Given the description of an element on the screen output the (x, y) to click on. 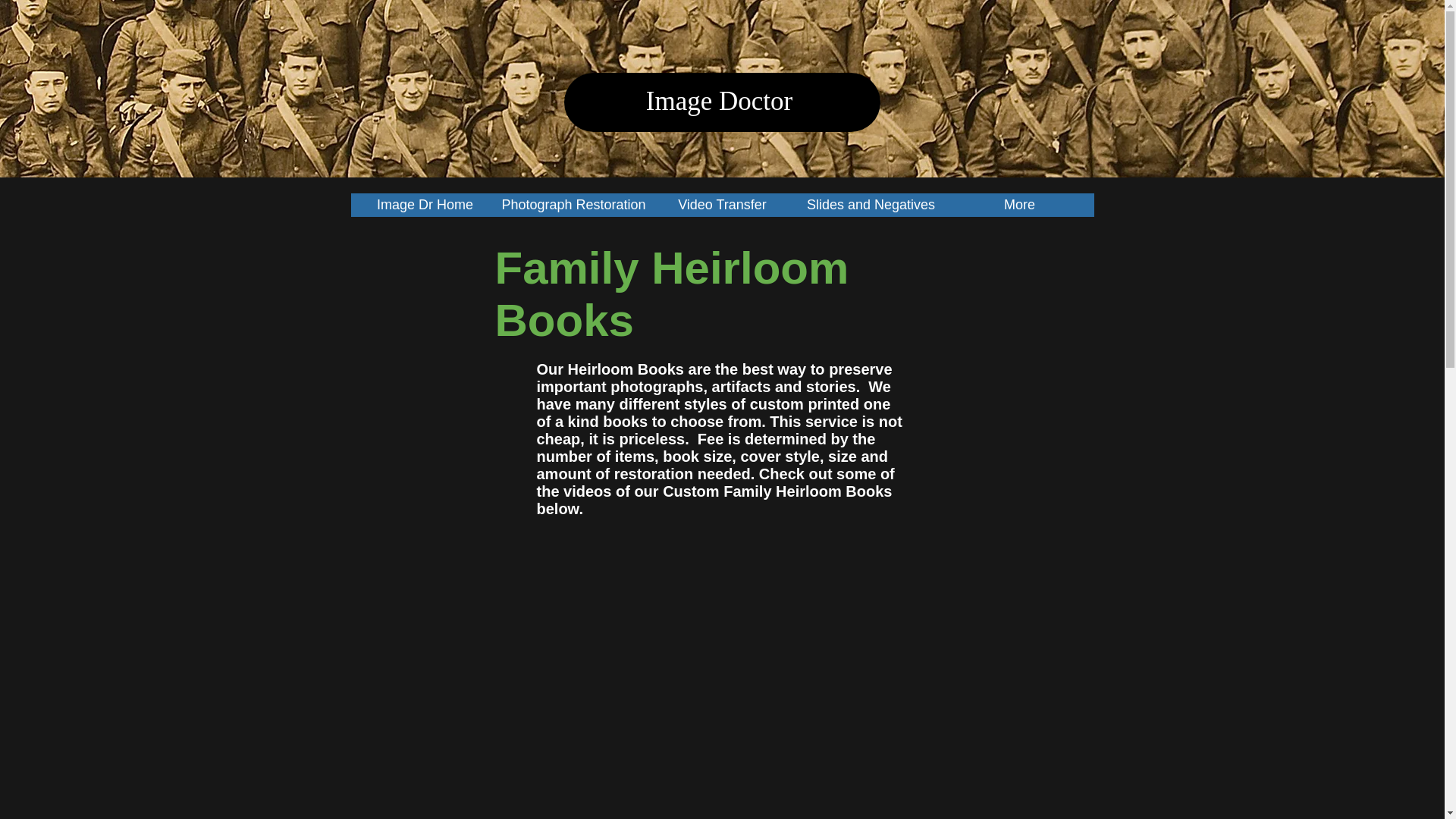
Video Transfer (721, 204)
Slides and Negatives (870, 204)
Image Dr Home (424, 204)
Image Doctor (719, 101)
Photograph Restoration (573, 204)
